Given the description of an element on the screen output the (x, y) to click on. 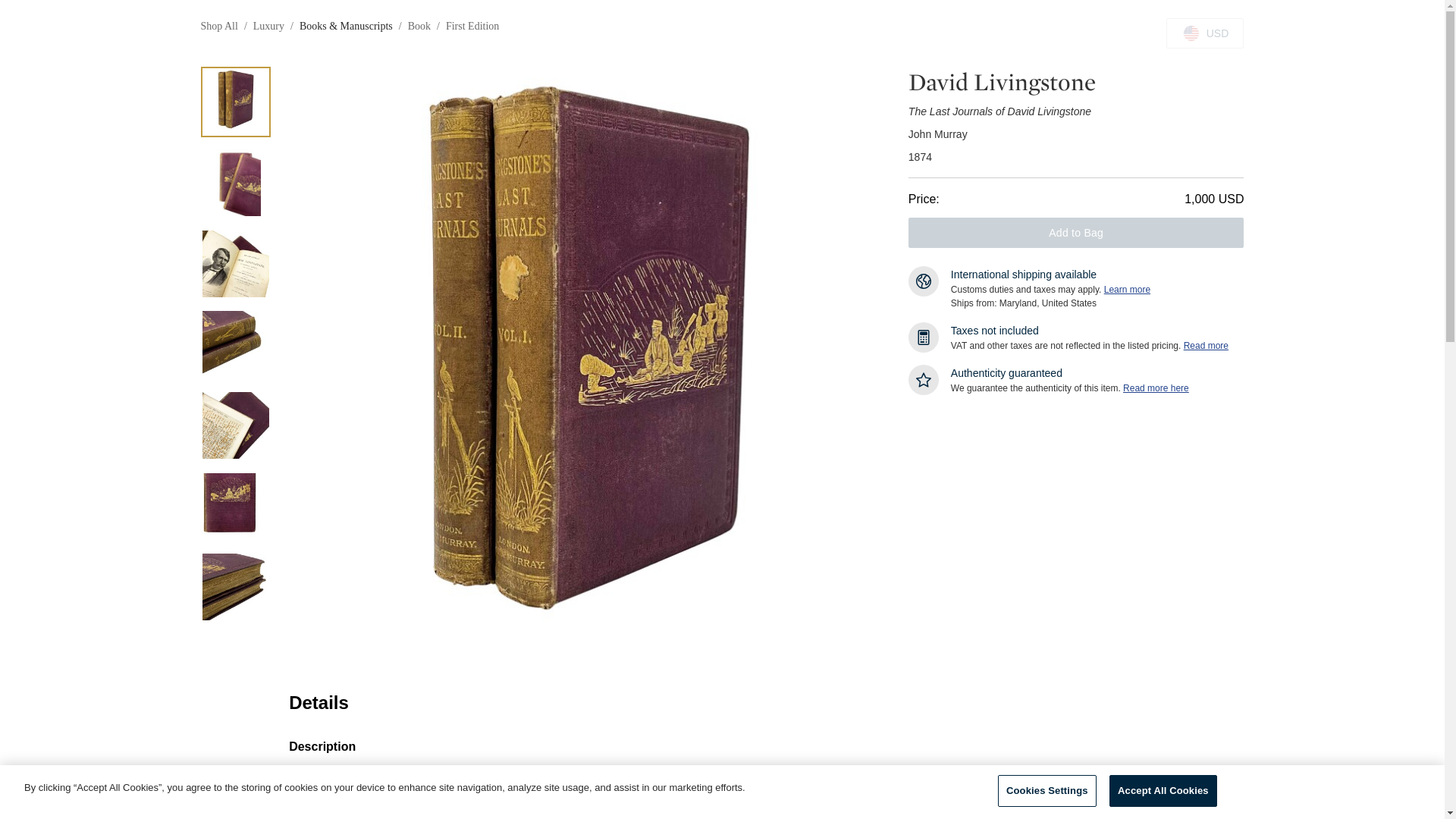
Cookies Settings (1046, 790)
USD (1204, 33)
Add to Bag (1076, 232)
Read more here (1155, 387)
Accept All Cookies (1163, 790)
First Edition (472, 25)
Shop All (218, 25)
Book (418, 25)
Learn more (1126, 289)
Luxury (268, 25)
Read more (1205, 345)
